Given the description of an element on the screen output the (x, y) to click on. 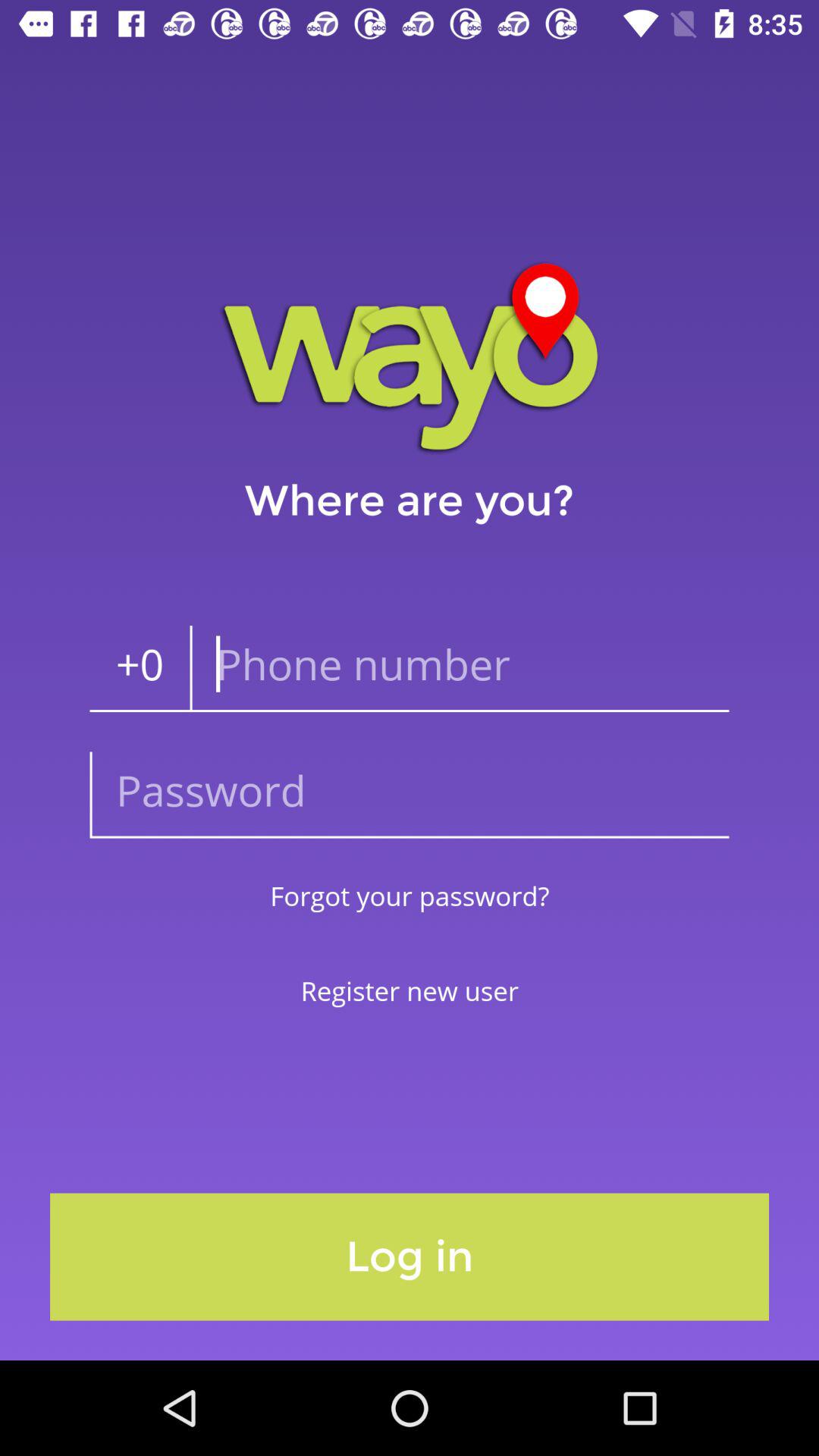
jump until +0 item (139, 668)
